Given the description of an element on the screen output the (x, y) to click on. 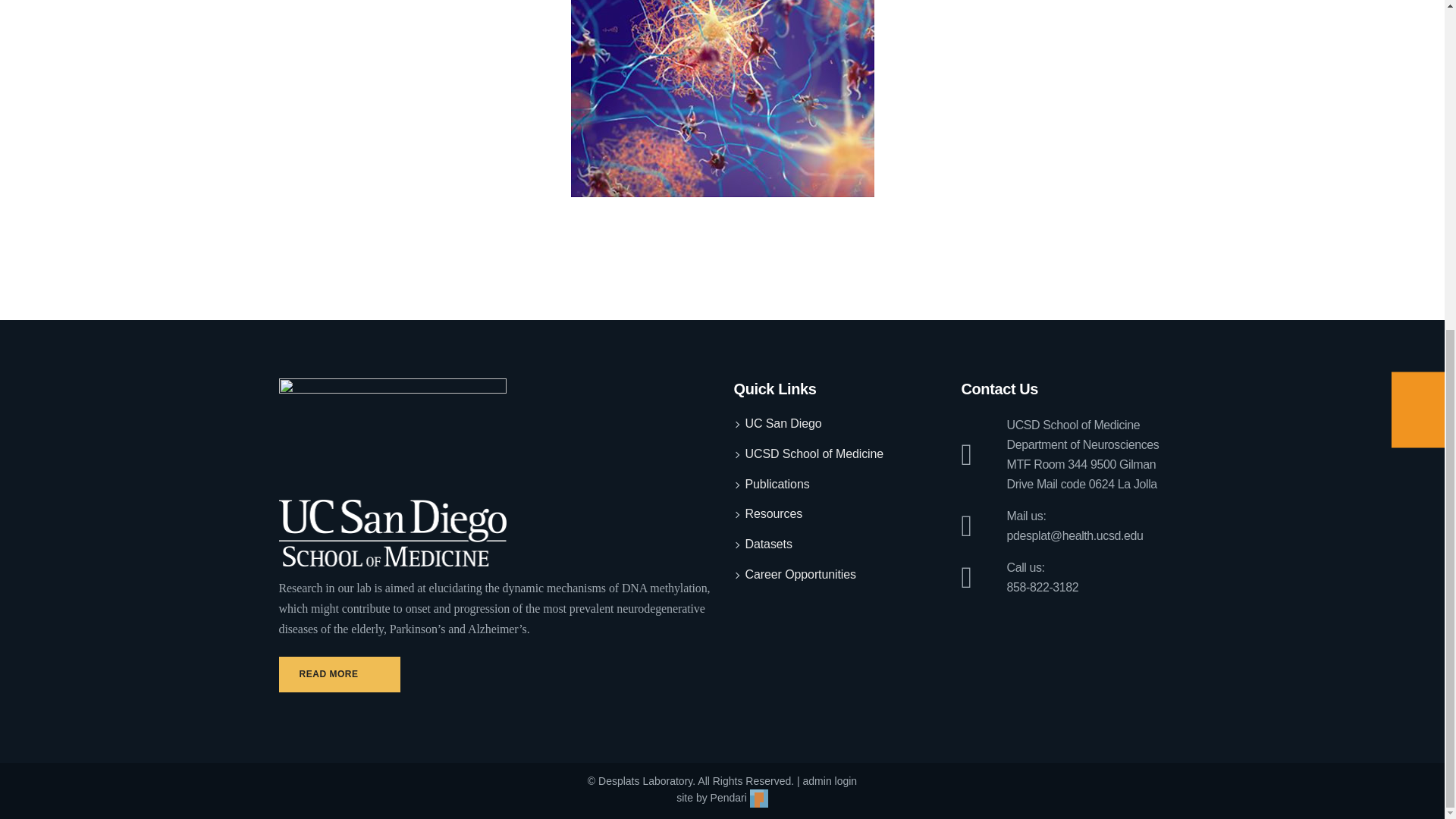
Career Opportunities (800, 574)
Pendari (739, 797)
UC San Diego (782, 424)
Resources (773, 514)
Datasets (768, 544)
UCSD School of Medicine (813, 454)
READ MORE (339, 674)
Publications (776, 484)
858-822-3182 (1042, 586)
admin login (830, 780)
